Given the description of an element on the screen output the (x, y) to click on. 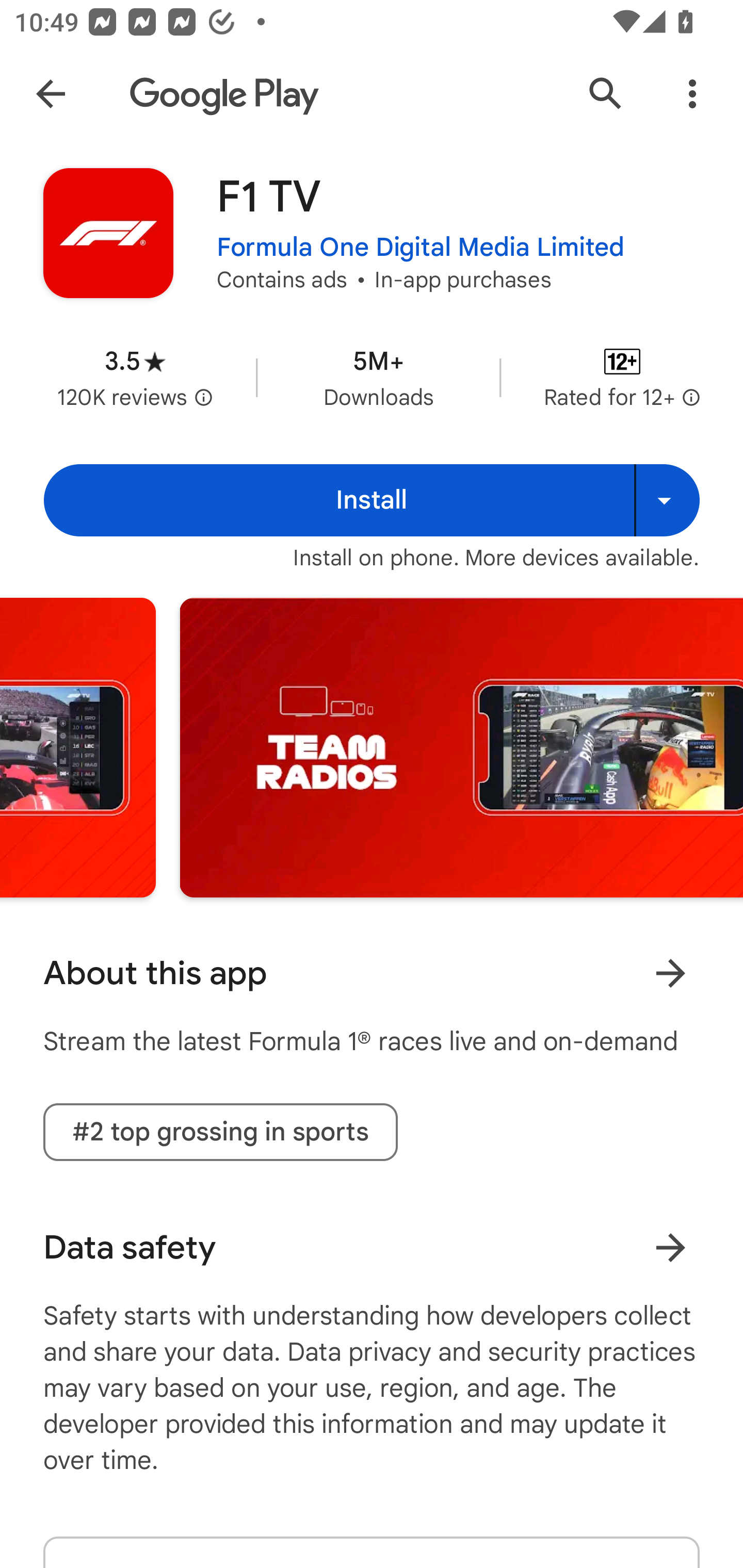
Navigate up (50, 93)
Search Google Play (605, 93)
More Options (692, 93)
Formula One Digital Media Limited (420, 247)
Average rating 3.5 stars in 120 thousand reviews (135, 377)
Content rating Rated for 12+ (622, 377)
Install Install Install on more devices (371, 500)
Install on more devices (667, 500)
Screenshot "3" of "5" (461, 746)
About this app Learn more About this app (371, 972)
Learn more About this app (670, 972)
#2 top grossing in sports tag (220, 1132)
Data safety Learn more about data safety (371, 1247)
Learn more about data safety (670, 1247)
